Given the description of an element on the screen output the (x, y) to click on. 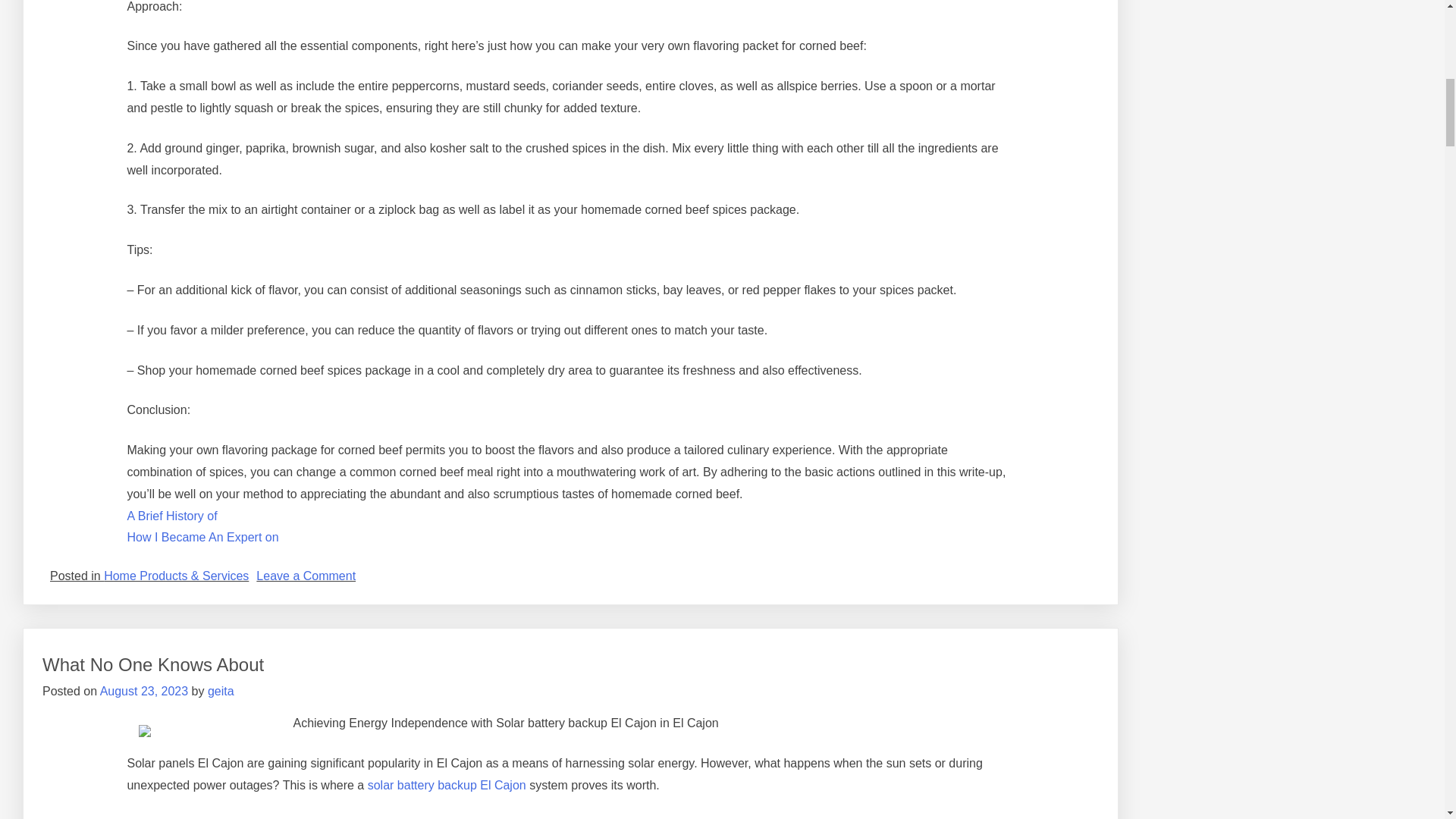
geita (221, 690)
solar battery backup El Cajon (446, 784)
August 23, 2023 (305, 575)
How I Became An Expert on (144, 690)
A Brief History of (202, 536)
What No One Knows About (171, 515)
